Given the description of an element on the screen output the (x, y) to click on. 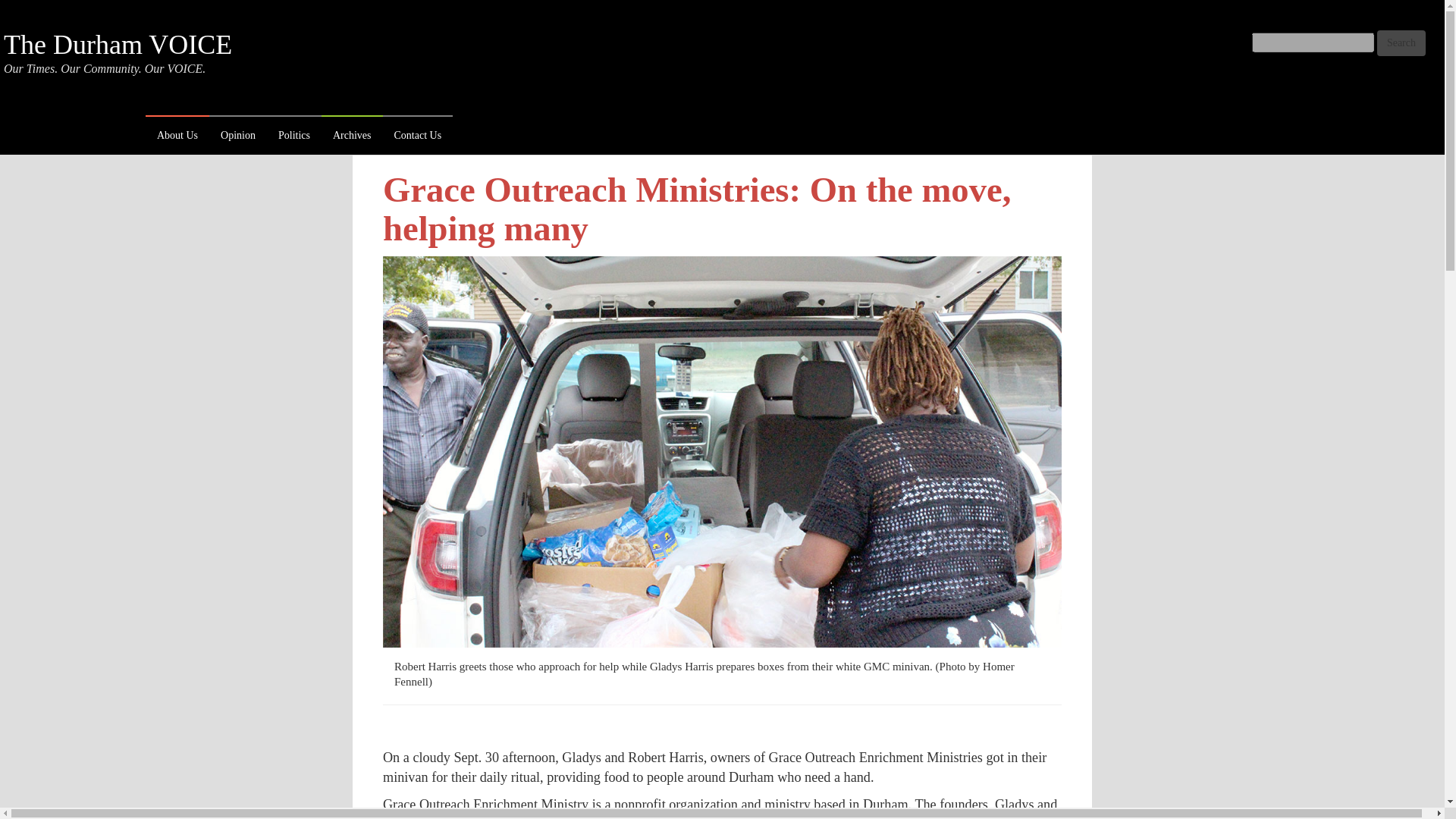
Politics (293, 135)
Archives (351, 135)
About Us (177, 135)
Politics (293, 135)
Search (1401, 43)
The Durham VOICE (117, 44)
Search (1401, 43)
Archives (351, 135)
Contact Us (417, 135)
Contact Us (417, 135)
The Durham VOICE (117, 44)
Opinion (237, 135)
About Us (177, 135)
Opinion (237, 135)
